Given the description of an element on the screen output the (x, y) to click on. 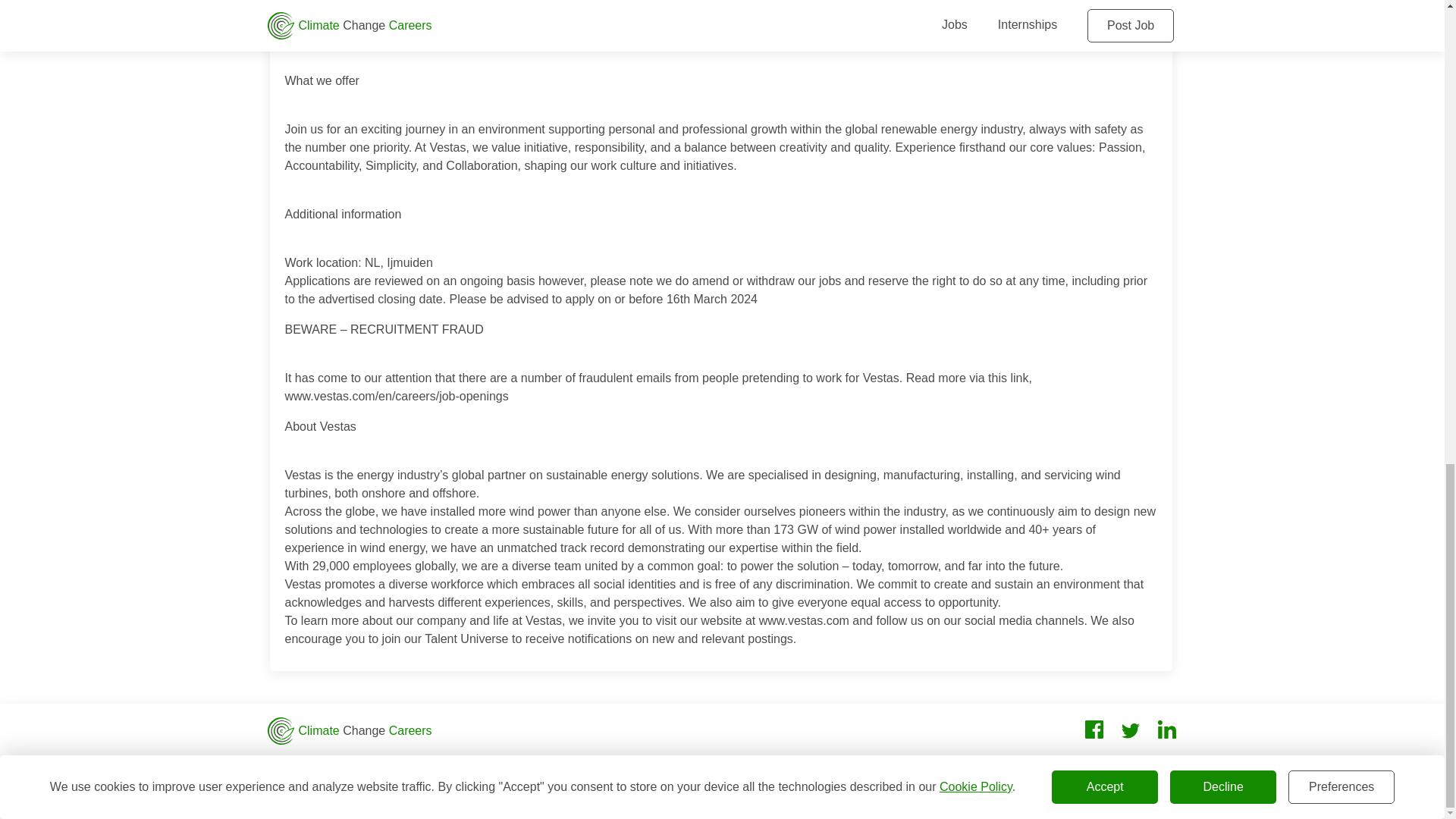
Acceptable Use (765, 767)
About Us (459, 767)
Privacy (597, 767)
Climate Change Careers (348, 730)
Post Job (290, 767)
Terms (531, 767)
Contact Us (374, 767)
Cookies (671, 767)
